Given the description of an element on the screen output the (x, y) to click on. 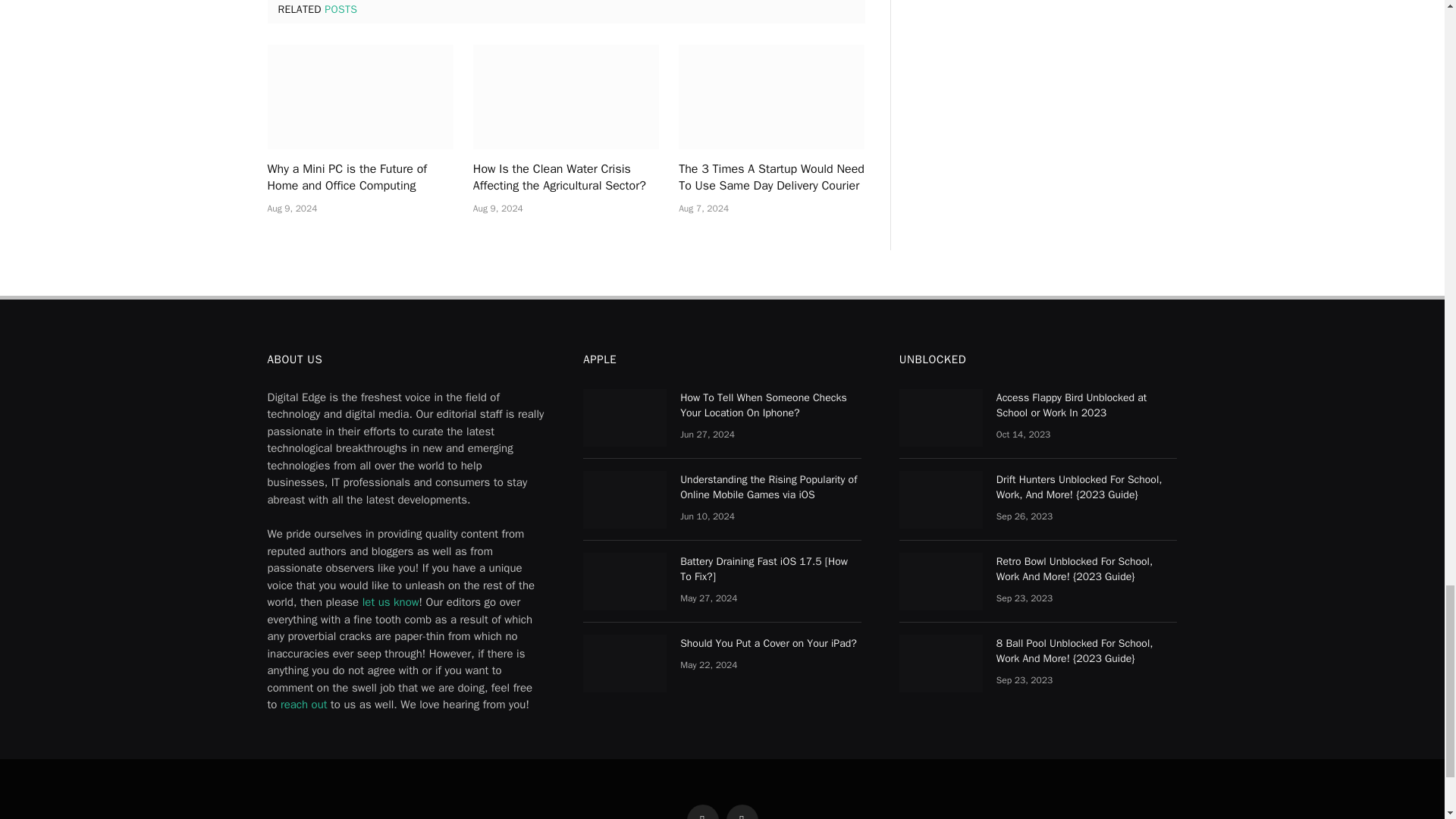
Why a Mini PC is the Future of Home and Office Computing (359, 97)
